Given the description of an element on the screen output the (x, y) to click on. 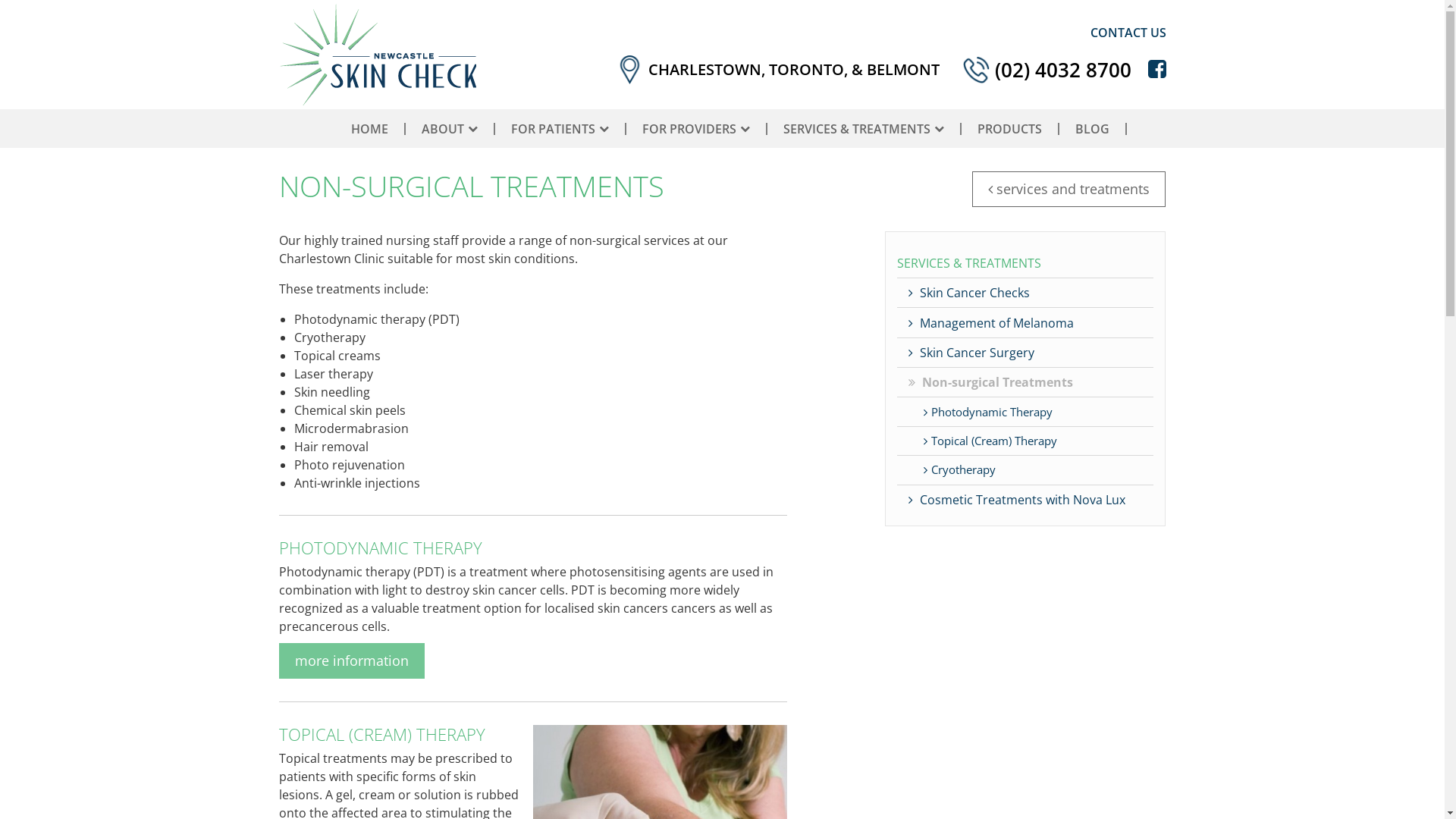
Topical (Cream) Therapy Element type: text (1025, 440)
Management of Melanoma Element type: text (1025, 321)
Non-surgical Treatments Element type: text (1025, 381)
Cosmetic Treatments with Nova Lux Element type: text (1025, 499)
SERVICES & TREATMENTS Element type: text (862, 128)
ABOUT Element type: text (449, 128)
FOR PATIENTS Element type: text (559, 128)
HOME Element type: text (368, 128)
CONTACT US Element type: text (1117, 31)
BLOG Element type: text (1092, 128)
services and treatments Element type: text (1068, 189)
Cryotherapy Element type: text (1025, 469)
more information Element type: text (351, 660)
TOPICAL (CREAM) THERAPY Element type: text (400, 733)
CHARLESTOWN TORONTO BELMONT Element type: text (776, 69)
PRODUCTS Element type: text (1008, 128)
Skin Cancer Checks Element type: text (1025, 292)
PHOTODYNAMIC THERAPY Element type: text (533, 547)
Skin Cancer Surgery Element type: text (1025, 352)
Photodynamic Therapy Element type: text (1025, 410)
FOR PROVIDERS Element type: text (694, 128)
(02) 4032 8700 Element type: text (1046, 69)
SERVICES & TREATMENTS Element type: text (1025, 262)
